Given the description of an element on the screen output the (x, y) to click on. 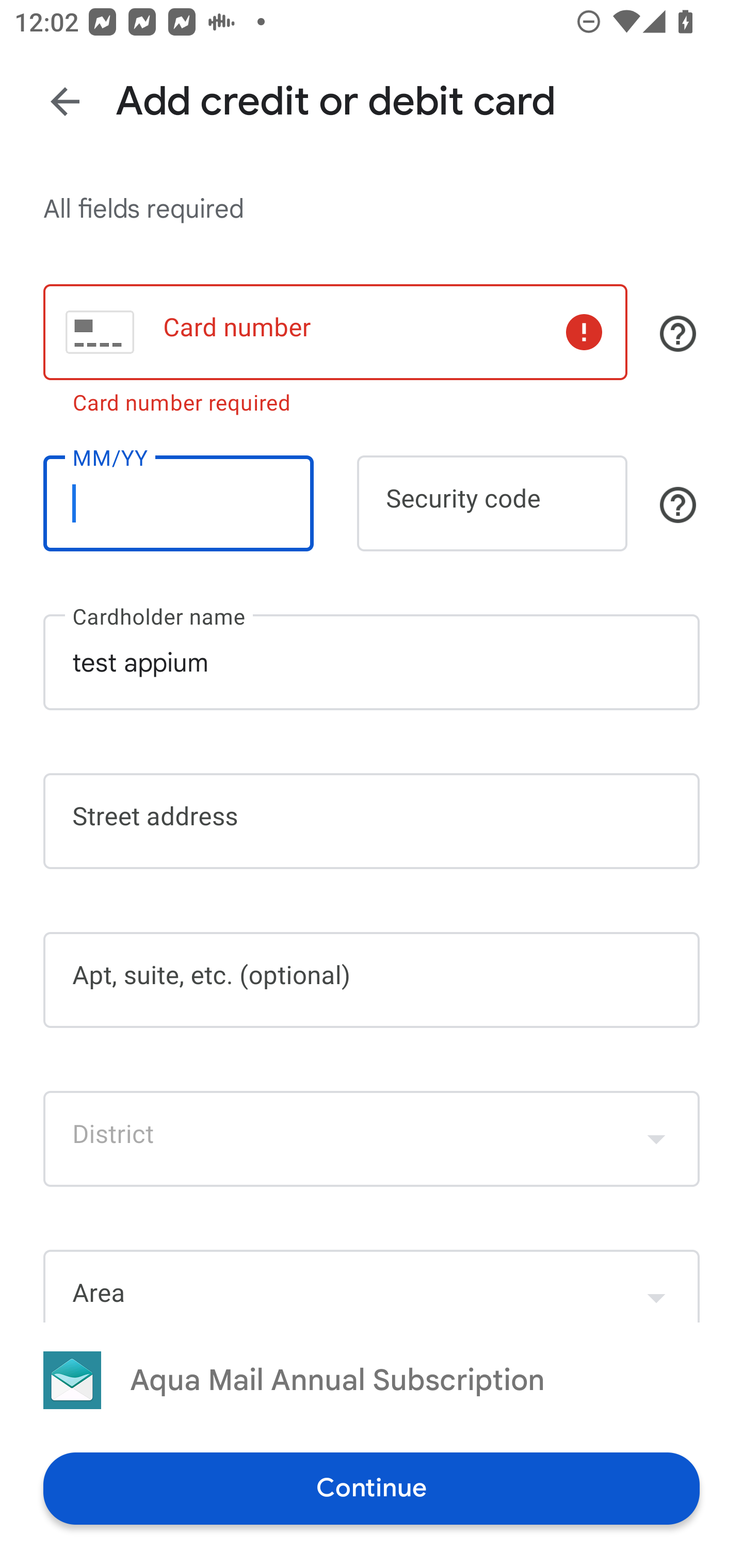
Back (64, 101)
Card number (335, 331)
Button, shows cards that are accepted for payment (677, 333)
Expiration date, 2 digit month, 2 digit year (178, 502)
Security code (492, 502)
Security code help (677, 504)
test appium (371, 662)
Street address (371, 820)
Apt, suite, etc. (optional) (371, 979)
District (371, 1138)
Show dropdown menu (655, 1139)
Area (371, 1285)
Show dropdown menu (655, 1287)
Continue (371, 1487)
